Given the description of an element on the screen output the (x, y) to click on. 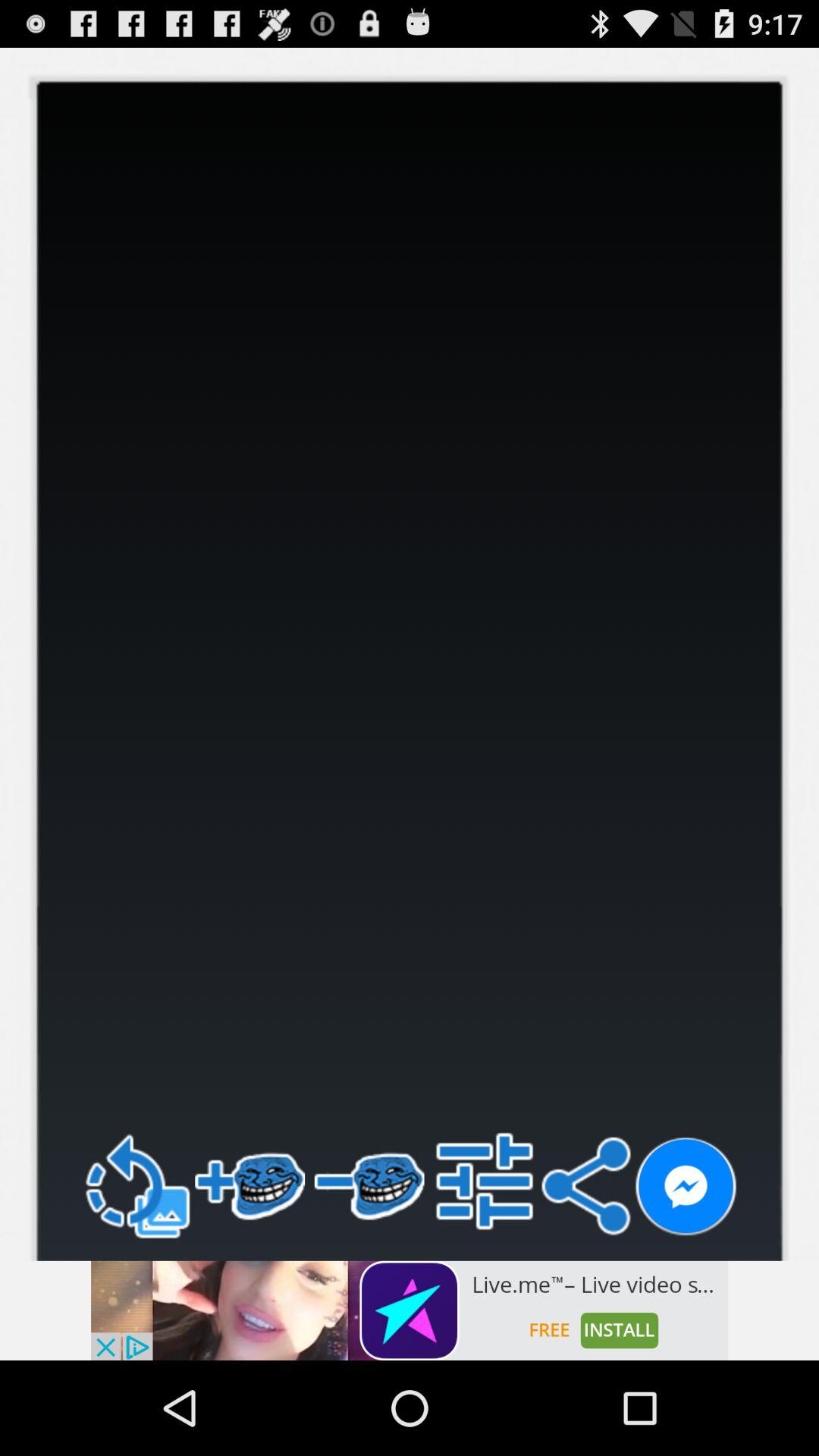
more option (484, 1181)
